Given the description of an element on the screen output the (x, y) to click on. 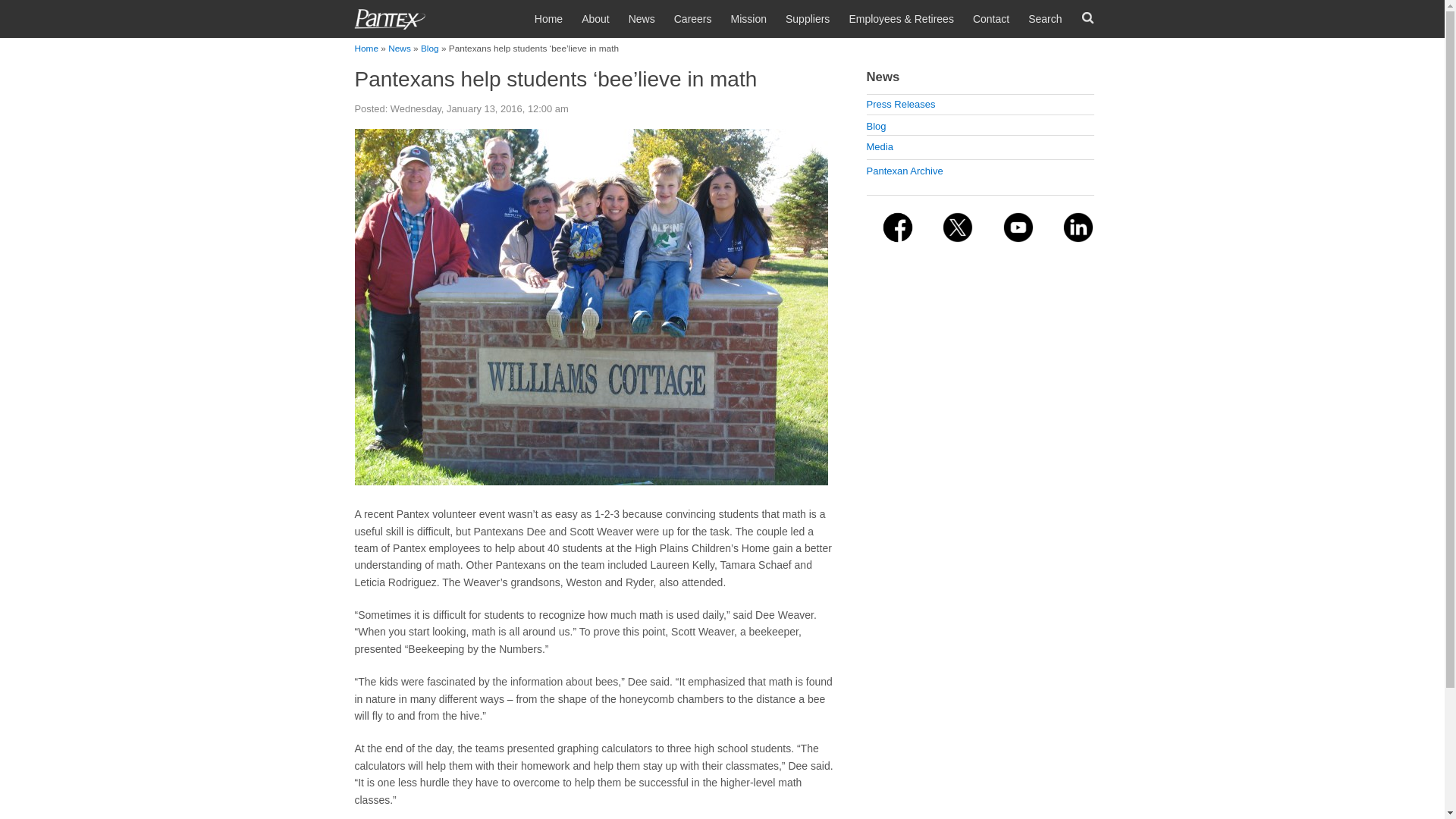
Home (721, 17)
